Given the description of an element on the screen output the (x, y) to click on. 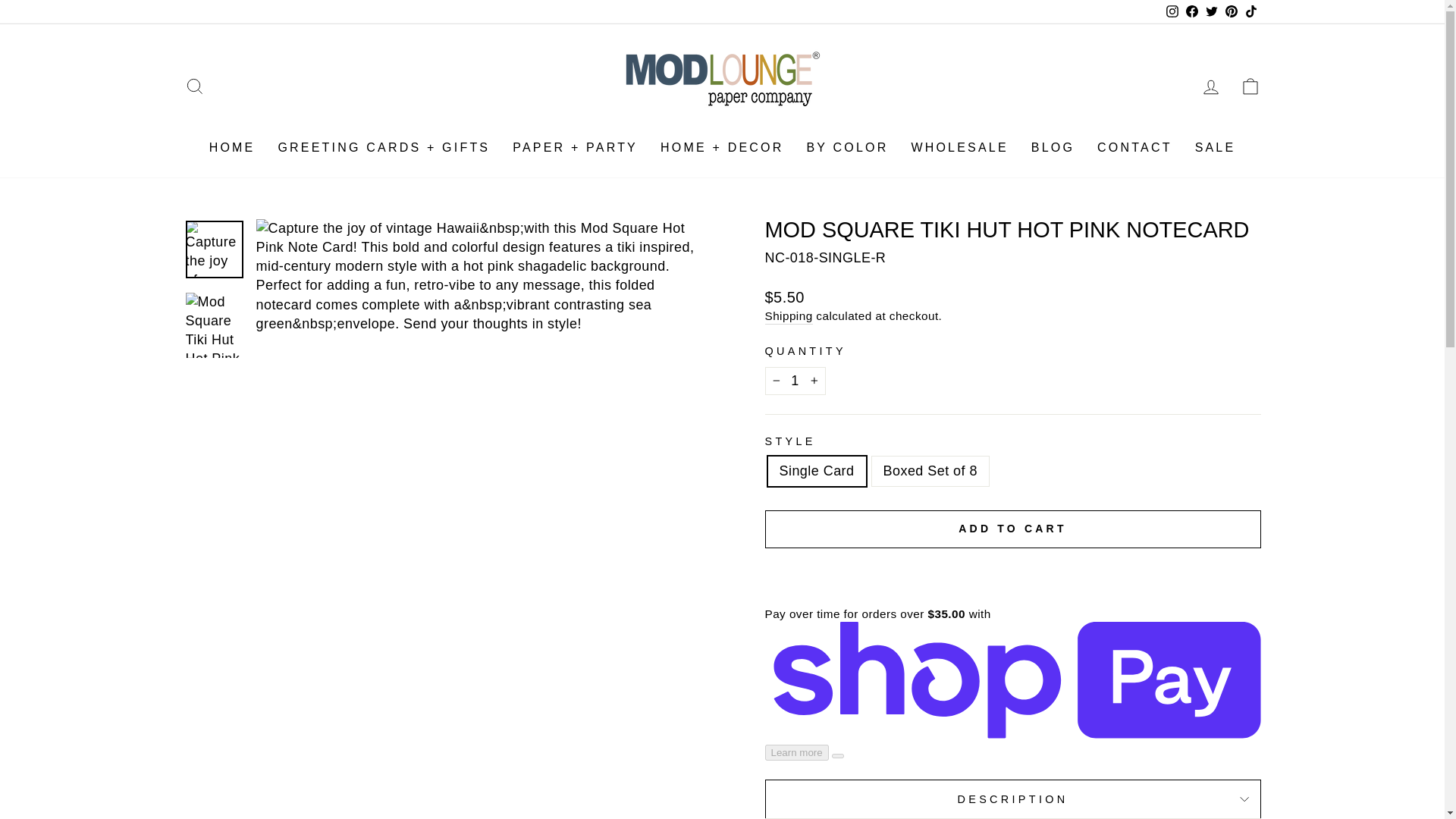
1 (794, 380)
